Given the description of an element on the screen output the (x, y) to click on. 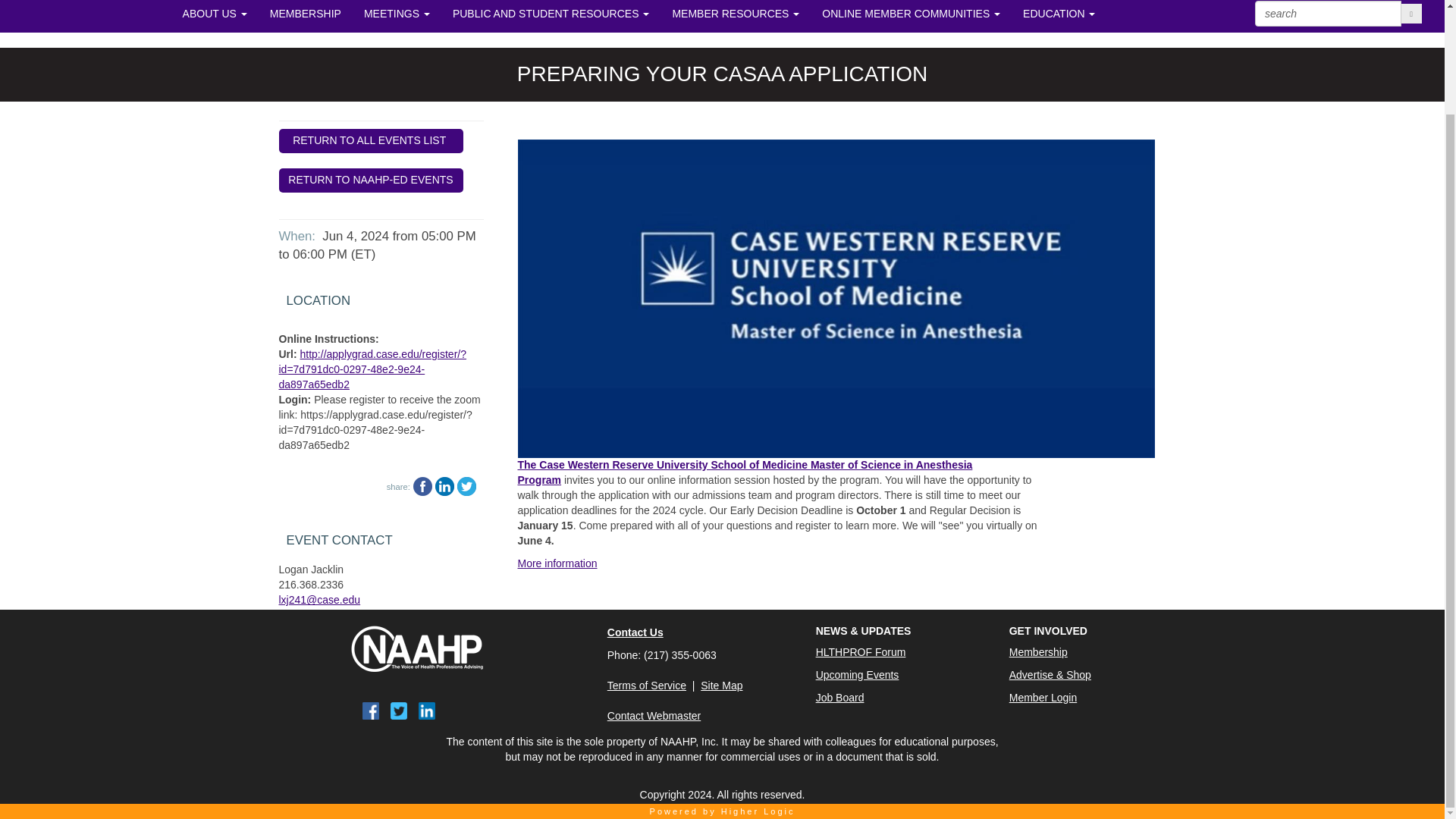
PUBLIC AND STUDENT RESOURCES (551, 16)
search (1327, 13)
MEMBERSHIP (305, 16)
MEETINGS (396, 16)
More information (556, 563)
LinkedIn Share (444, 485)
Twitter Share (466, 485)
Facebook Share (422, 485)
Share on LinkedIn (444, 486)
Share on Twitter (466, 486)
Share on Facebook (422, 486)
ABOUT US (215, 16)
